Given the description of an element on the screen output the (x, y) to click on. 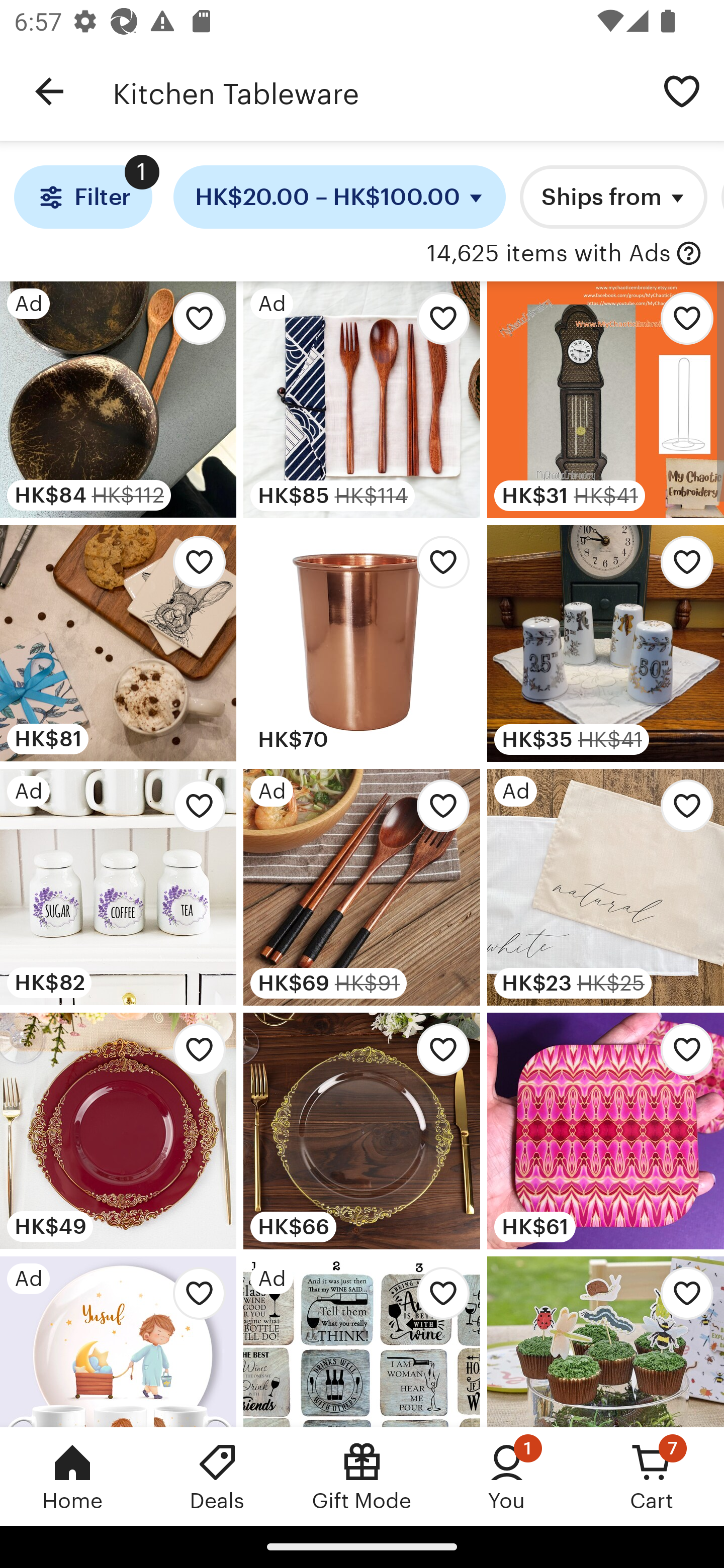
Navigate up (49, 91)
Save search (681, 90)
Kitchen Tableware (375, 91)
Filter (82, 197)
HK$20.00 – HK$100.00 (339, 197)
Ships from (613, 197)
14,625 items with Ads (549, 253)
with Ads (688, 253)
Deals (216, 1475)
Gift Mode (361, 1475)
You, 1 new notification You (506, 1475)
Cart, 7 new notifications Cart (651, 1475)
